Given the description of an element on the screen output the (x, y) to click on. 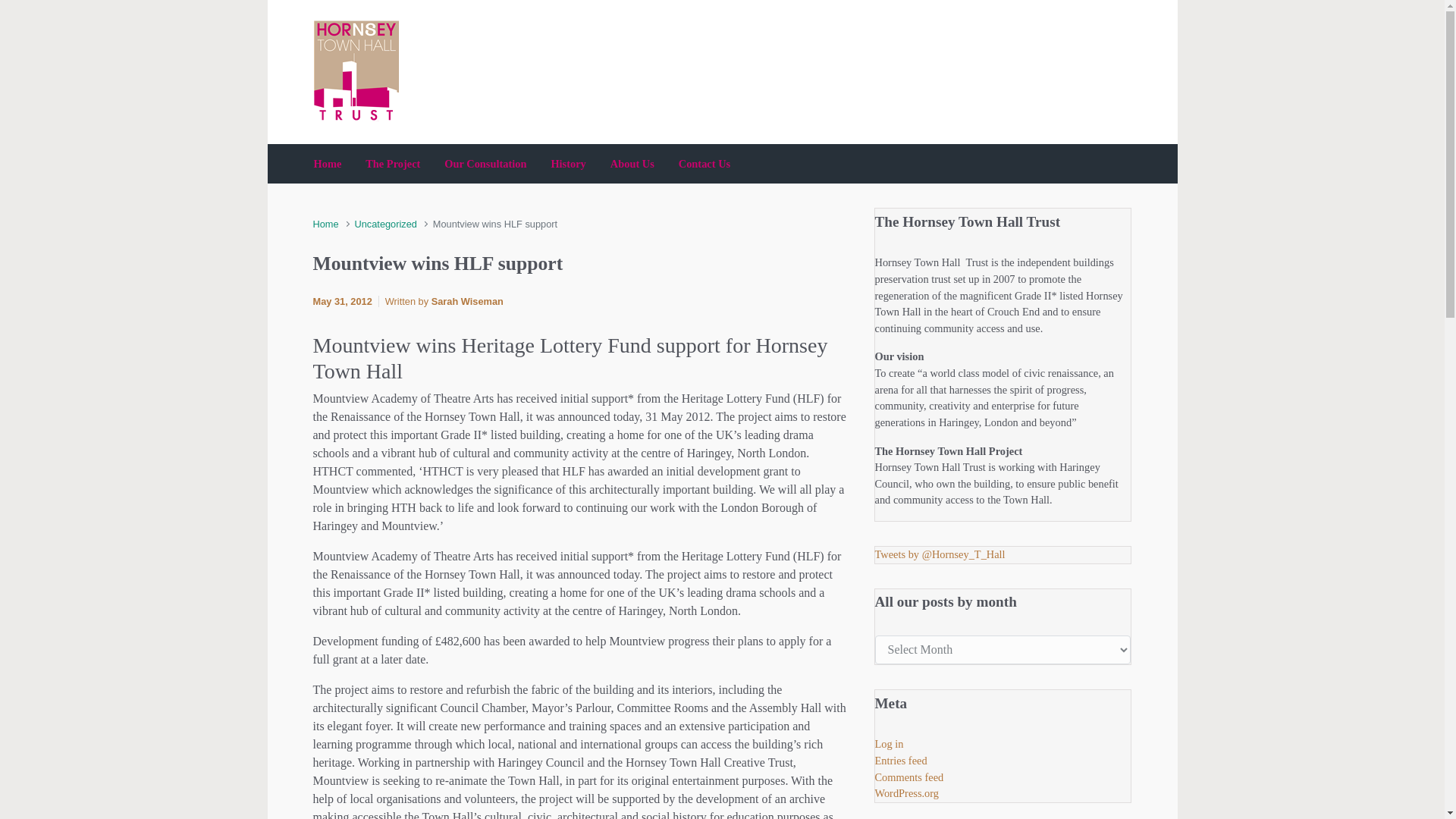
Our Consultation (485, 163)
Entries feed (901, 760)
Uncategorized (384, 224)
Contact Us (704, 163)
Sarah Wiseman (466, 301)
Home (325, 224)
Log in (889, 743)
About Us (632, 163)
Home (327, 163)
Comments feed (909, 776)
The Project (392, 163)
Uncategorized (384, 224)
View all posts by Sarah Wiseman (466, 301)
WordPress.org (907, 792)
History (567, 163)
